Given the description of an element on the screen output the (x, y) to click on. 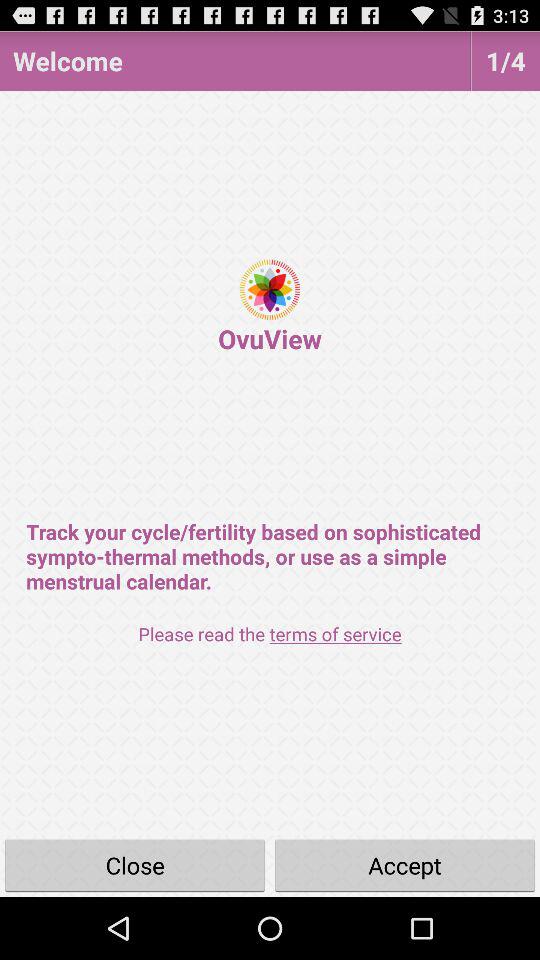
jump to the accept item (405, 864)
